Given the description of an element on the screen output the (x, y) to click on. 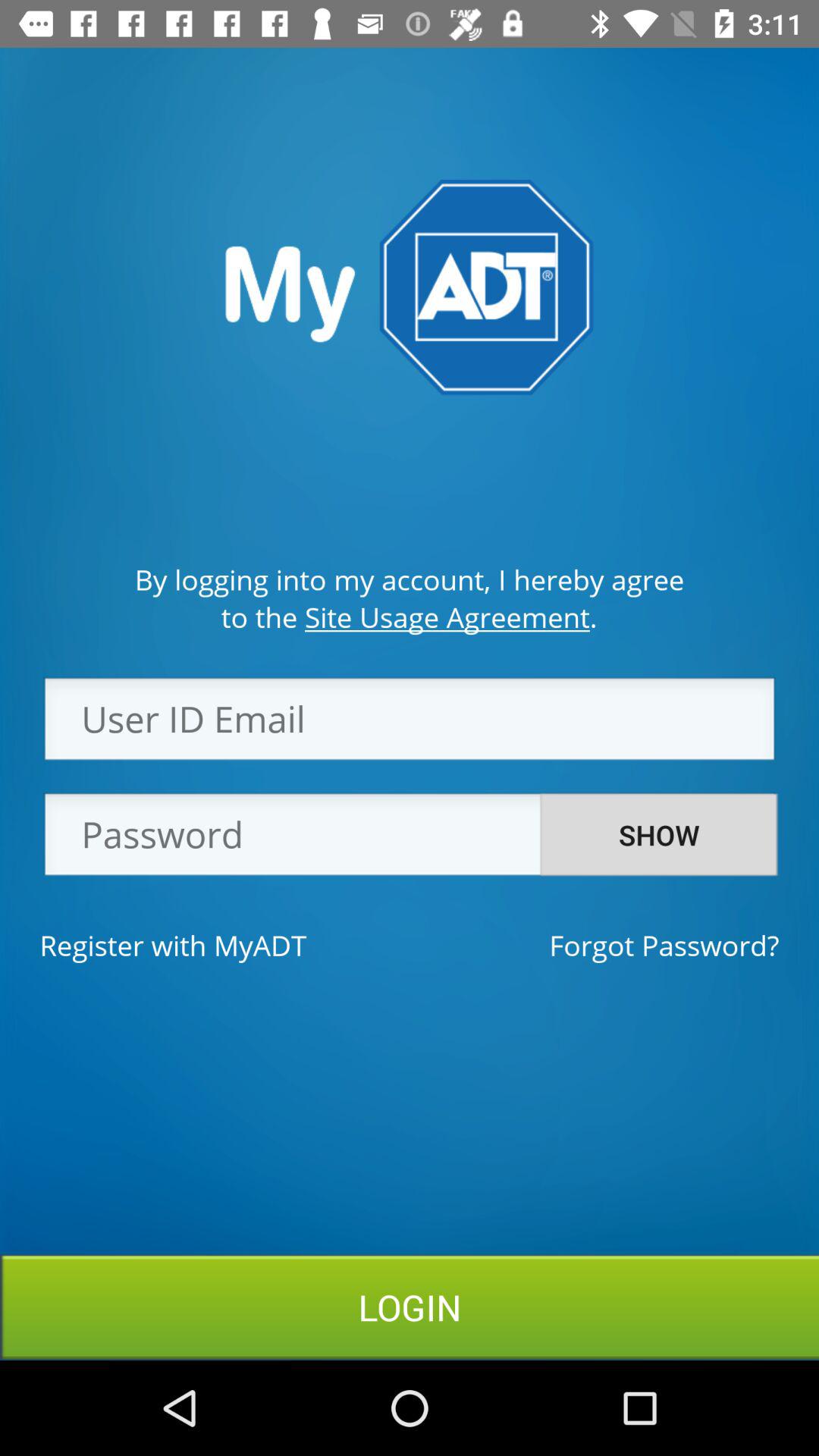
jump to the by logging into item (409, 579)
